Given the description of an element on the screen output the (x, y) to click on. 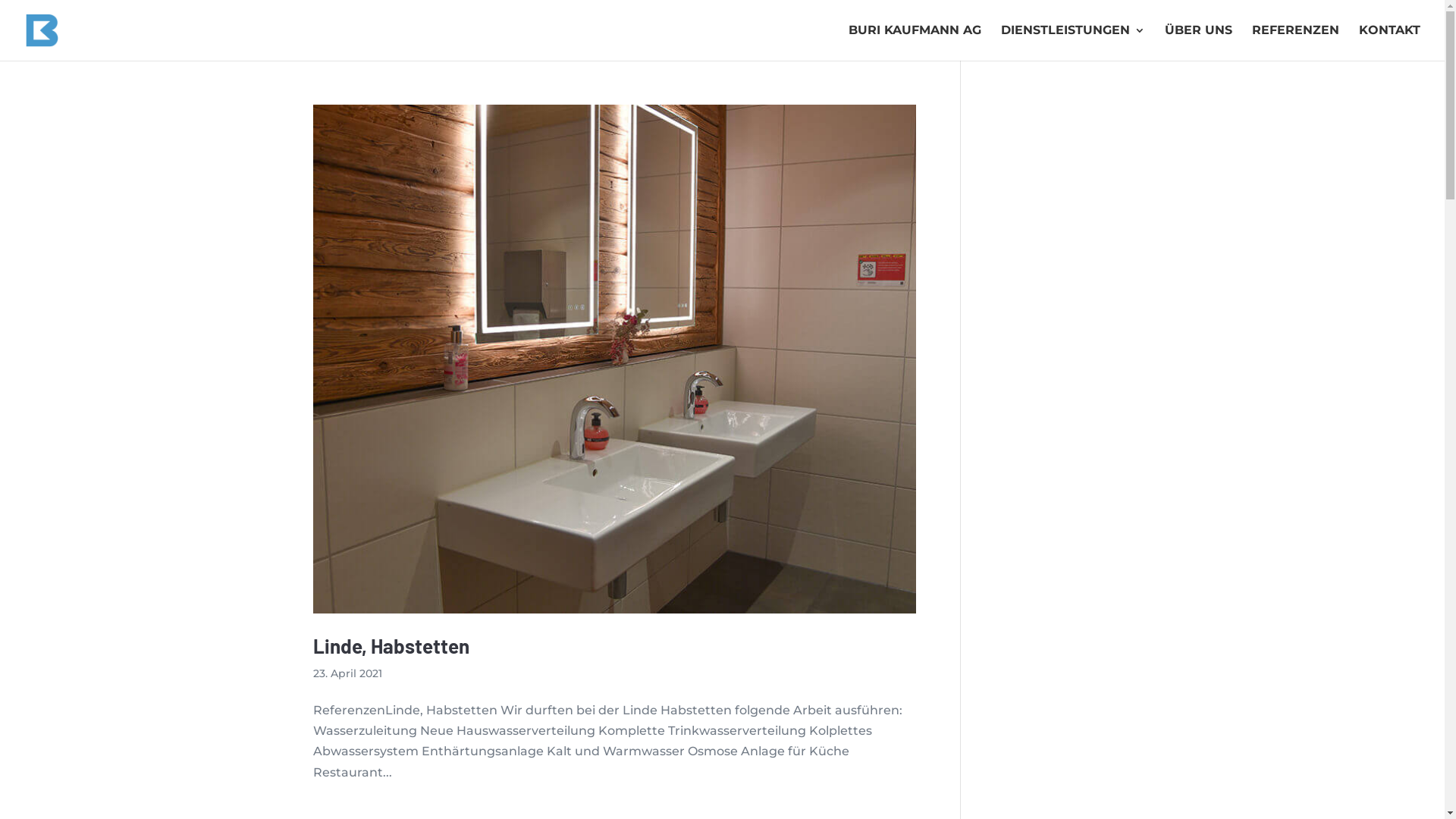
BURI KAUFMANN AG Element type: text (914, 42)
Linde, Habstetten Element type: text (390, 645)
DIENSTLEISTUNGEN Element type: text (1073, 42)
REFERENZEN Element type: text (1295, 42)
KONTAKT Element type: text (1389, 42)
